Given the description of an element on the screen output the (x, y) to click on. 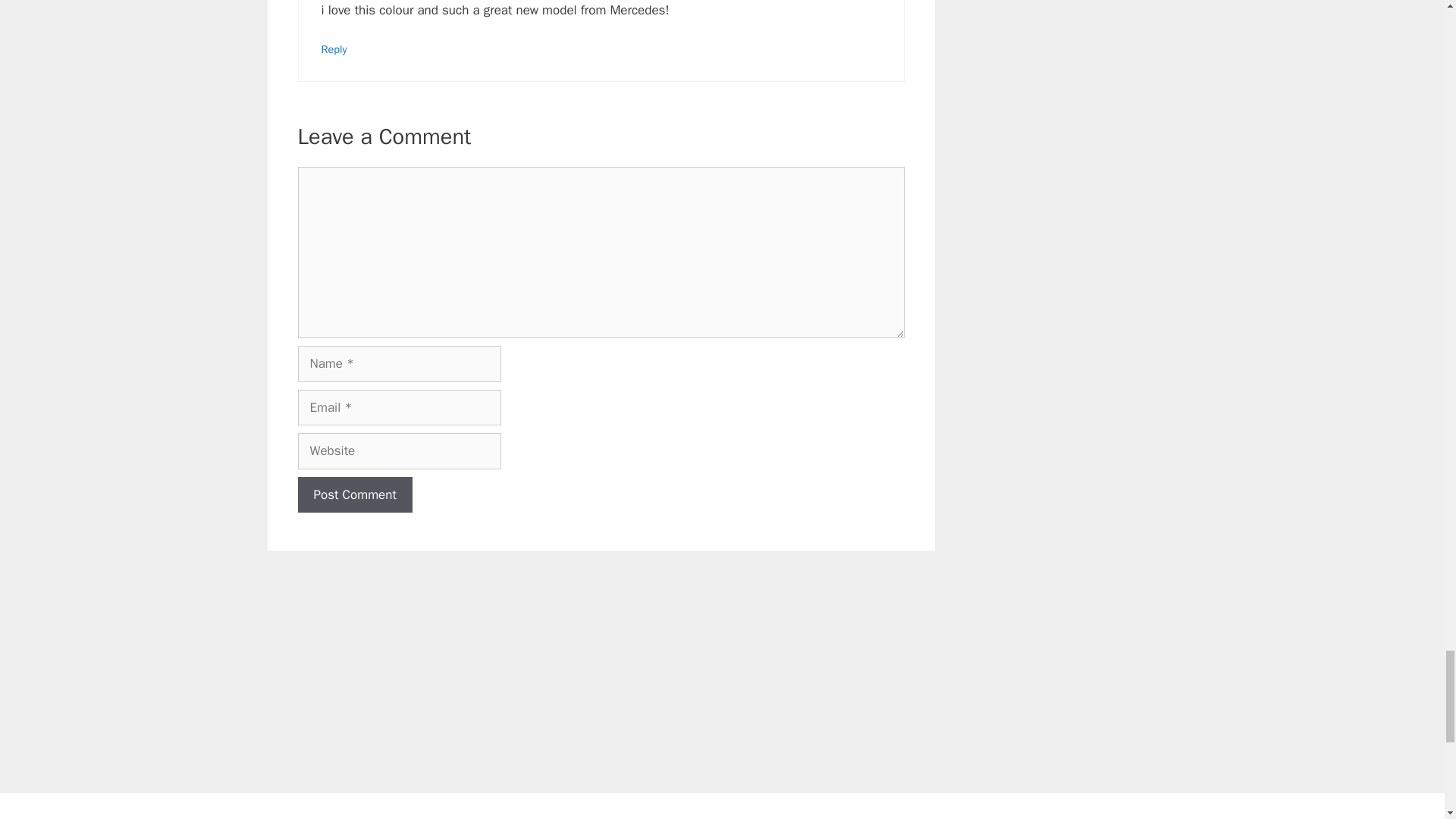
Post Comment (354, 494)
